Given the description of an element on the screen output the (x, y) to click on. 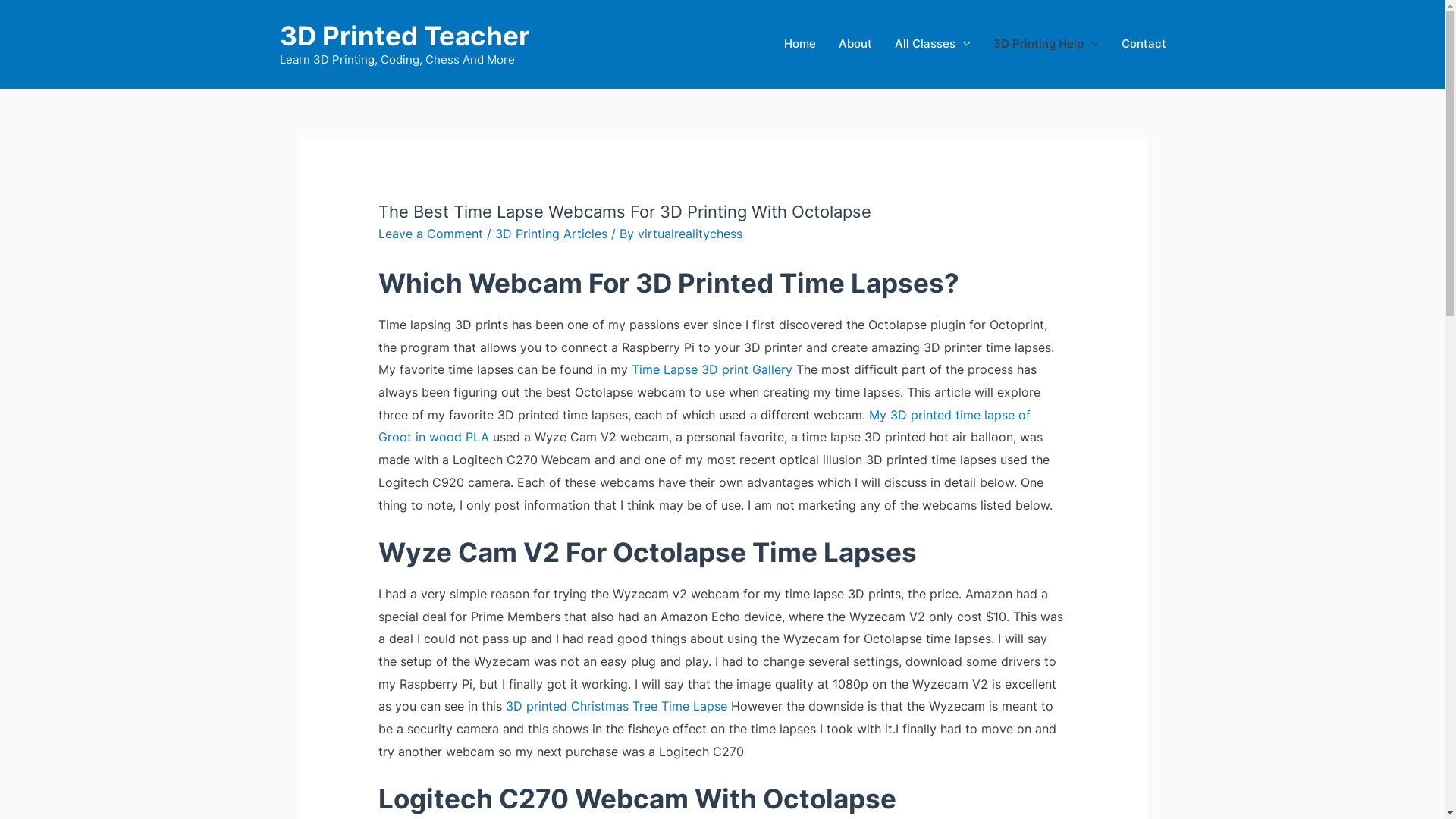
3D Printed Teacher Element type: text (403, 35)
Home Element type: text (798, 43)
All Classes Element type: text (931, 43)
3D Printing Articles Element type: text (551, 233)
Time Lapse 3D print Gallery Element type: text (711, 368)
virtualrealitychess Element type: text (689, 233)
Contact Element type: text (1143, 43)
Leave a Comment Element type: text (430, 233)
3D printed Christmas Tree Time Lapse Element type: text (616, 705)
About Element type: text (854, 43)
My 3D printed time lapse of Groot in wood PLA Element type: text (704, 426)
3D Printing Help Element type: text (1045, 43)
